Given the description of an element on the screen output the (x, y) to click on. 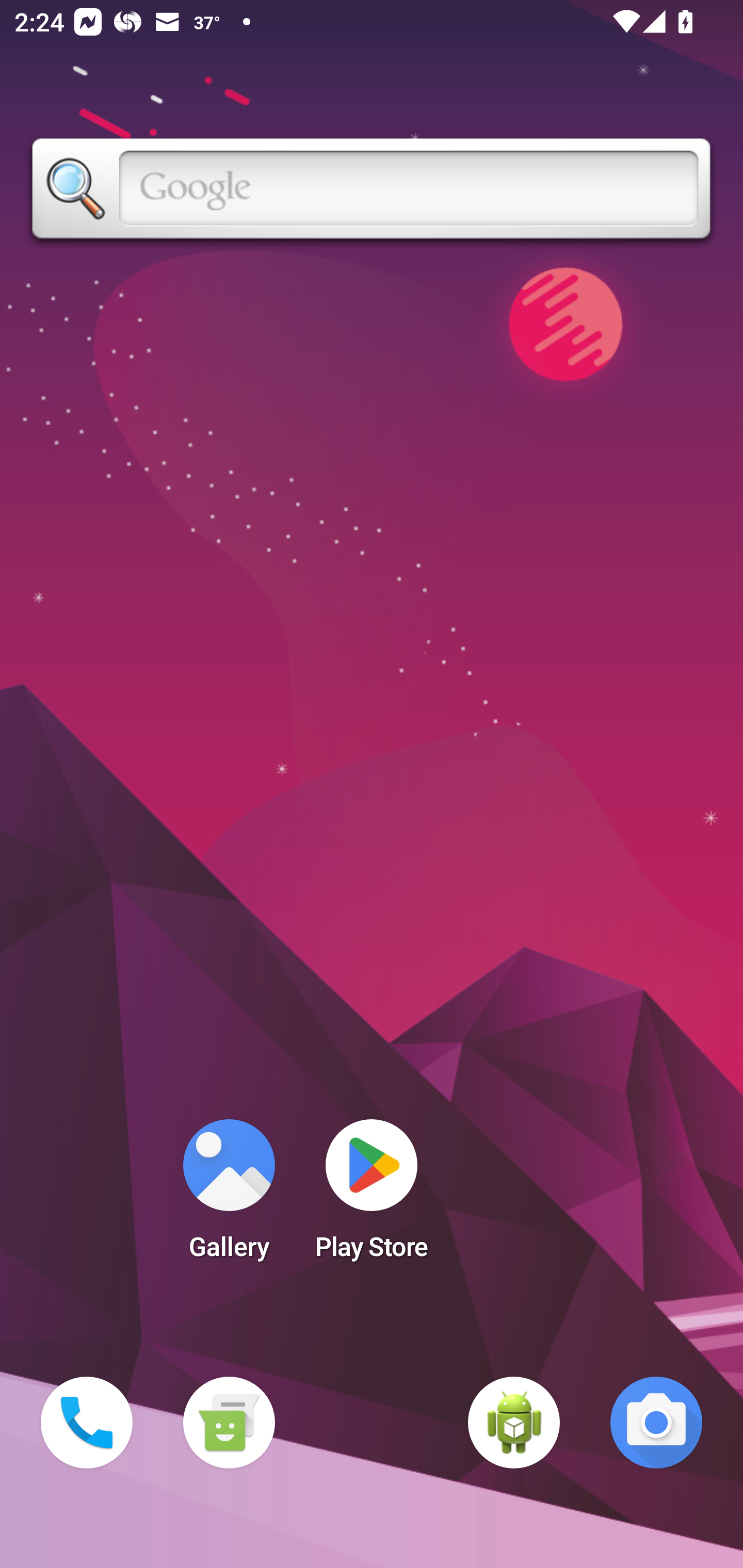
Gallery (228, 1195)
Play Store (371, 1195)
Phone (86, 1422)
Messaging (228, 1422)
WebView Browser Tester (513, 1422)
Camera (656, 1422)
